Given the description of an element on the screen output the (x, y) to click on. 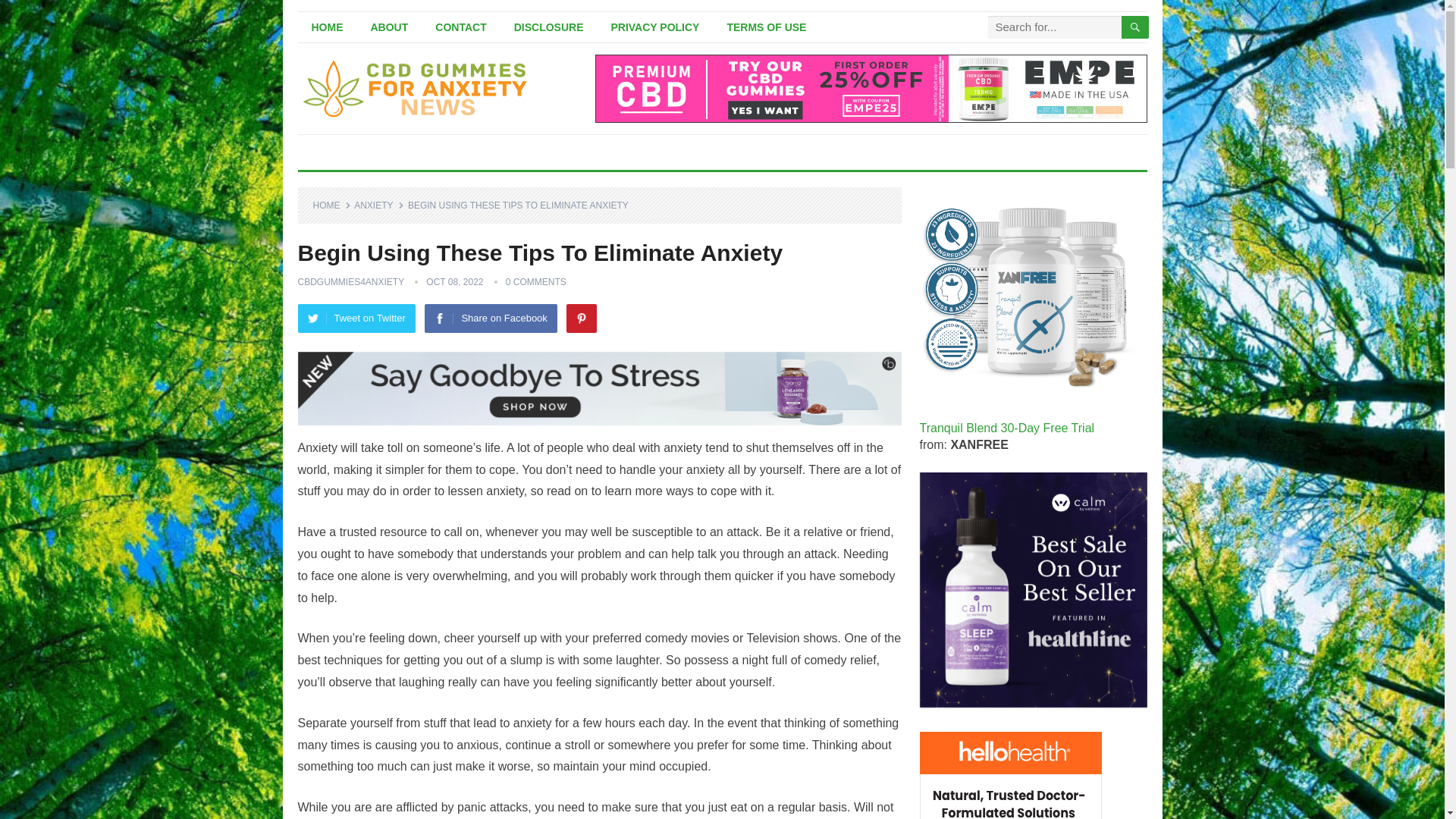
CBDGUMMIES4ANXIETY (350, 281)
PRIVACY POLICY (654, 27)
0 COMMENTS (535, 281)
Tweet on Twitter (355, 317)
TERMS OF USE (766, 27)
Pinterest (581, 317)
Share on Facebook (490, 317)
ABOUT (389, 27)
View all posts in Anxiety (378, 204)
ANXIETY (378, 204)
DISCLOSURE (548, 27)
HOME (331, 204)
CONTACT (460, 27)
Posts by CBDgummies4Anxiety (350, 281)
HOME (326, 27)
